Given the description of an element on the screen output the (x, y) to click on. 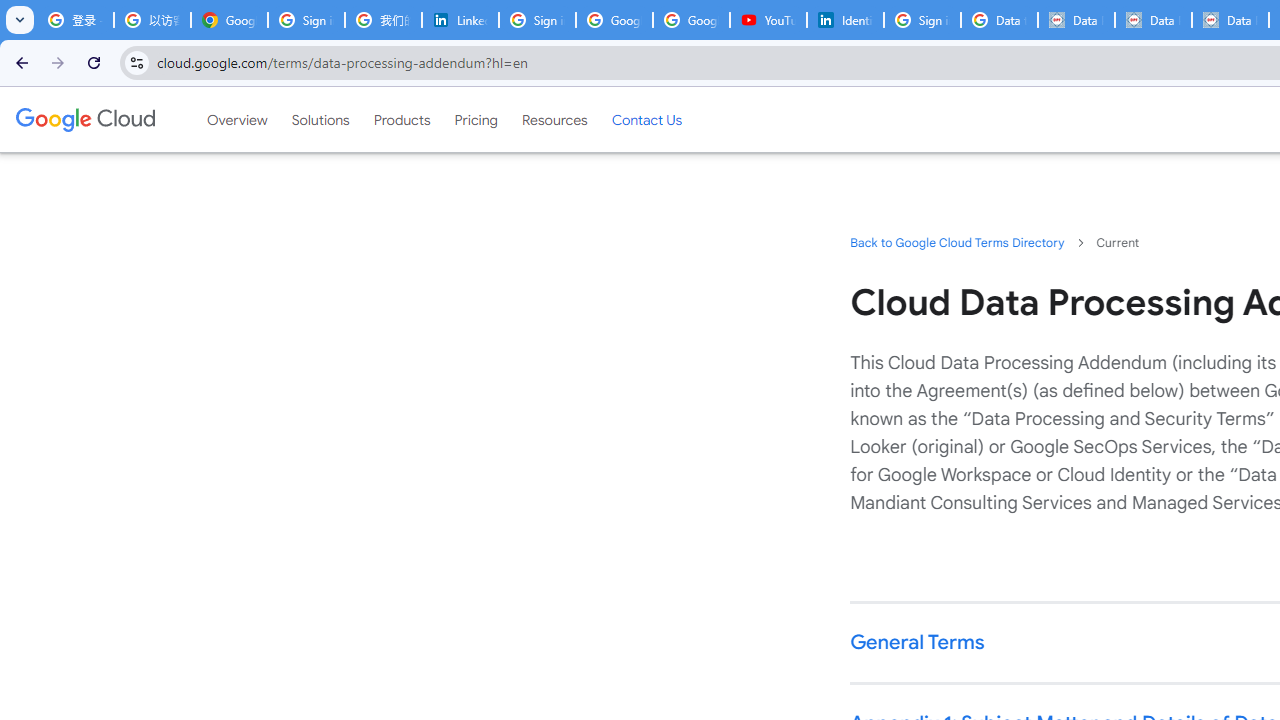
Sign in - Google Accounts (306, 20)
Solutions (320, 119)
Back to Google Cloud Terms Directory (956, 241)
Data Privacy Framework (1229, 20)
Sign in - Google Accounts (922, 20)
